Given the description of an element on the screen output the (x, y) to click on. 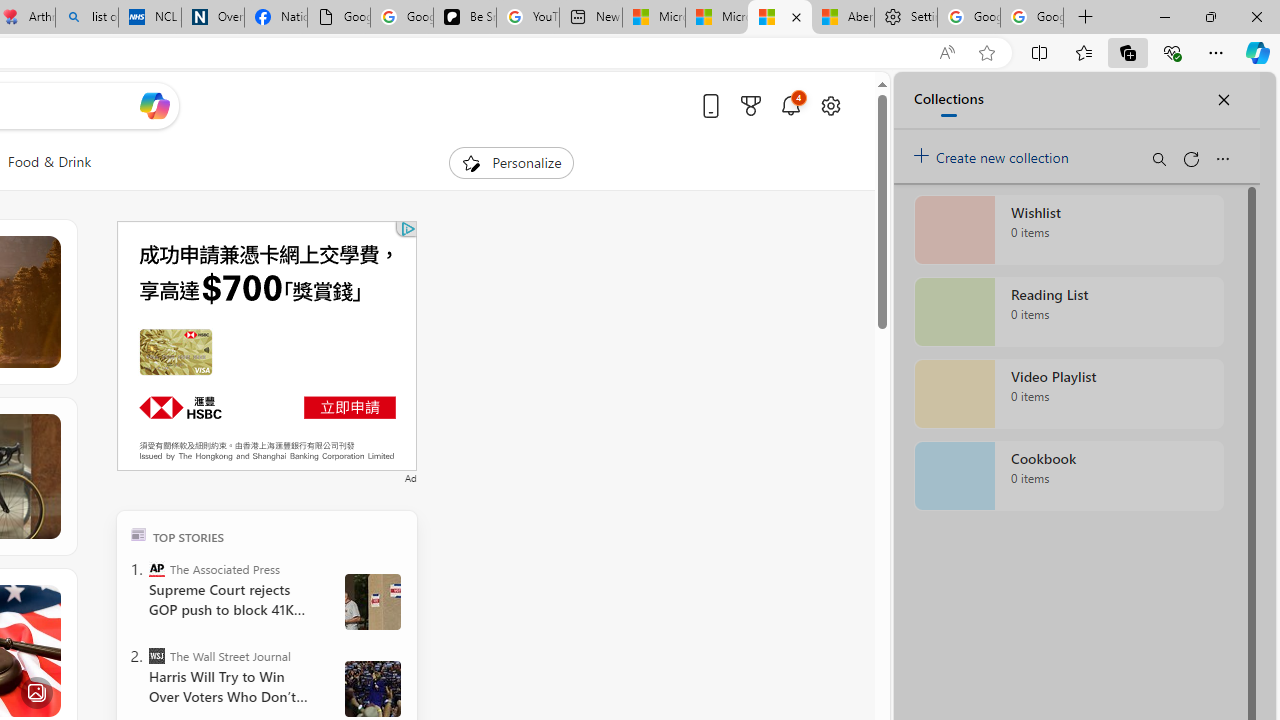
Class: qc-adchoices-link top-right  (406, 228)
The Wall Street Journal (156, 655)
AutomationID: canvas (266, 345)
